Given the description of an element on the screen output the (x, y) to click on. 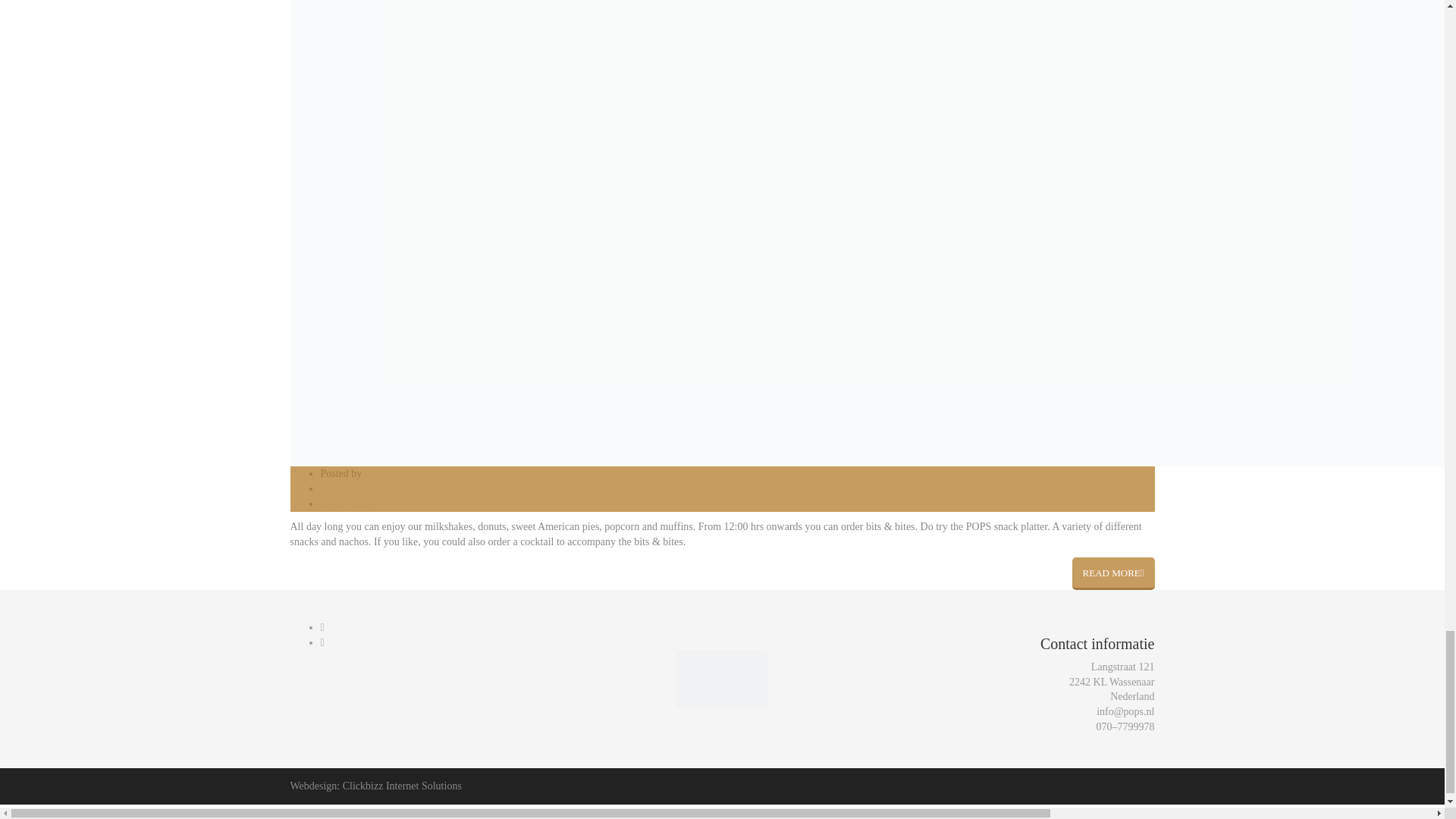
View all Comments (347, 503)
Berichten van admin (378, 473)
